Given the description of an element on the screen output the (x, y) to click on. 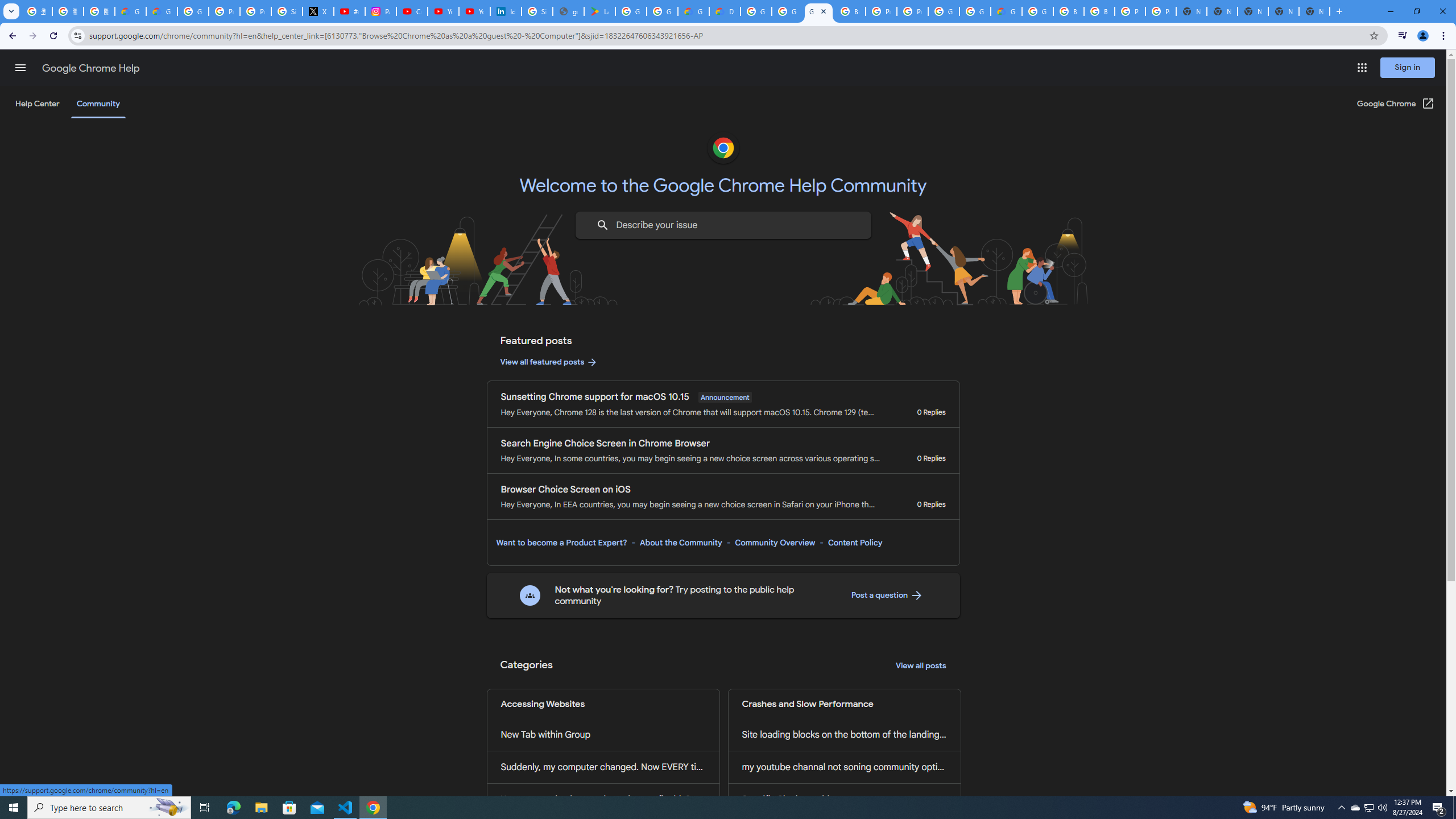
Google Cloud Privacy Notice (161, 11)
Sign in - Google Accounts (536, 11)
Reload (52, 35)
Describe your issue to find information that might help you. (722, 225)
Want to become a Product Expert? (561, 542)
google_privacy_policy_en.pdf (568, 11)
Browse Chrome as a guest - Computer - Google Chrome Help (849, 11)
Google apps (1362, 67)
Address and search bar (725, 35)
New Tab (1338, 11)
View all featured posts (548, 361)
